Given the description of an element on the screen output the (x, y) to click on. 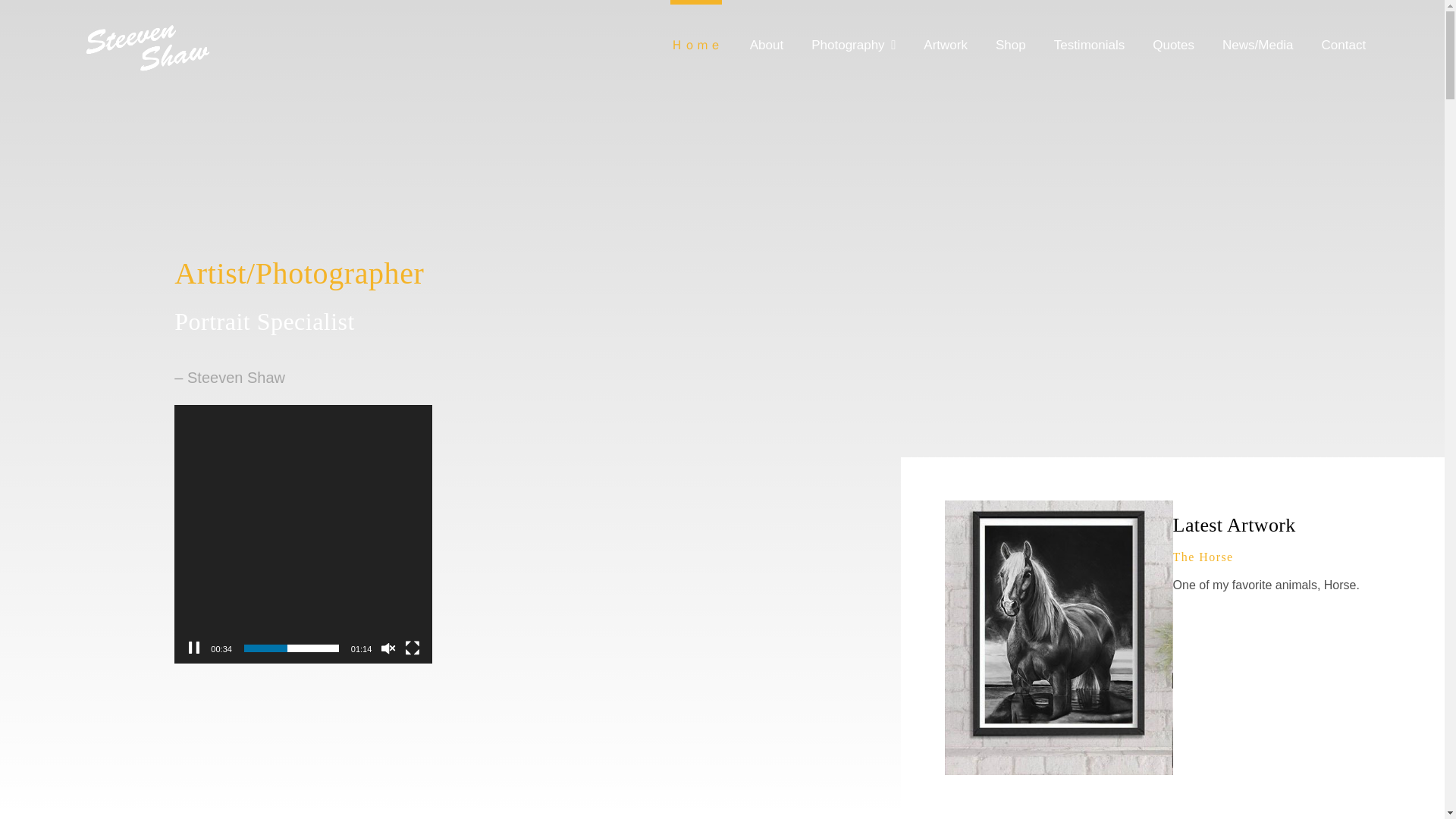
About (766, 35)
Contact (1344, 35)
Fullscreen (412, 648)
Testimonials (1089, 35)
horse (1058, 637)
Shop (1010, 35)
Unmute (388, 648)
Quotes (1173, 35)
Photography (852, 35)
Artwork (945, 35)
Pause (194, 648)
